Given the description of an element on the screen output the (x, y) to click on. 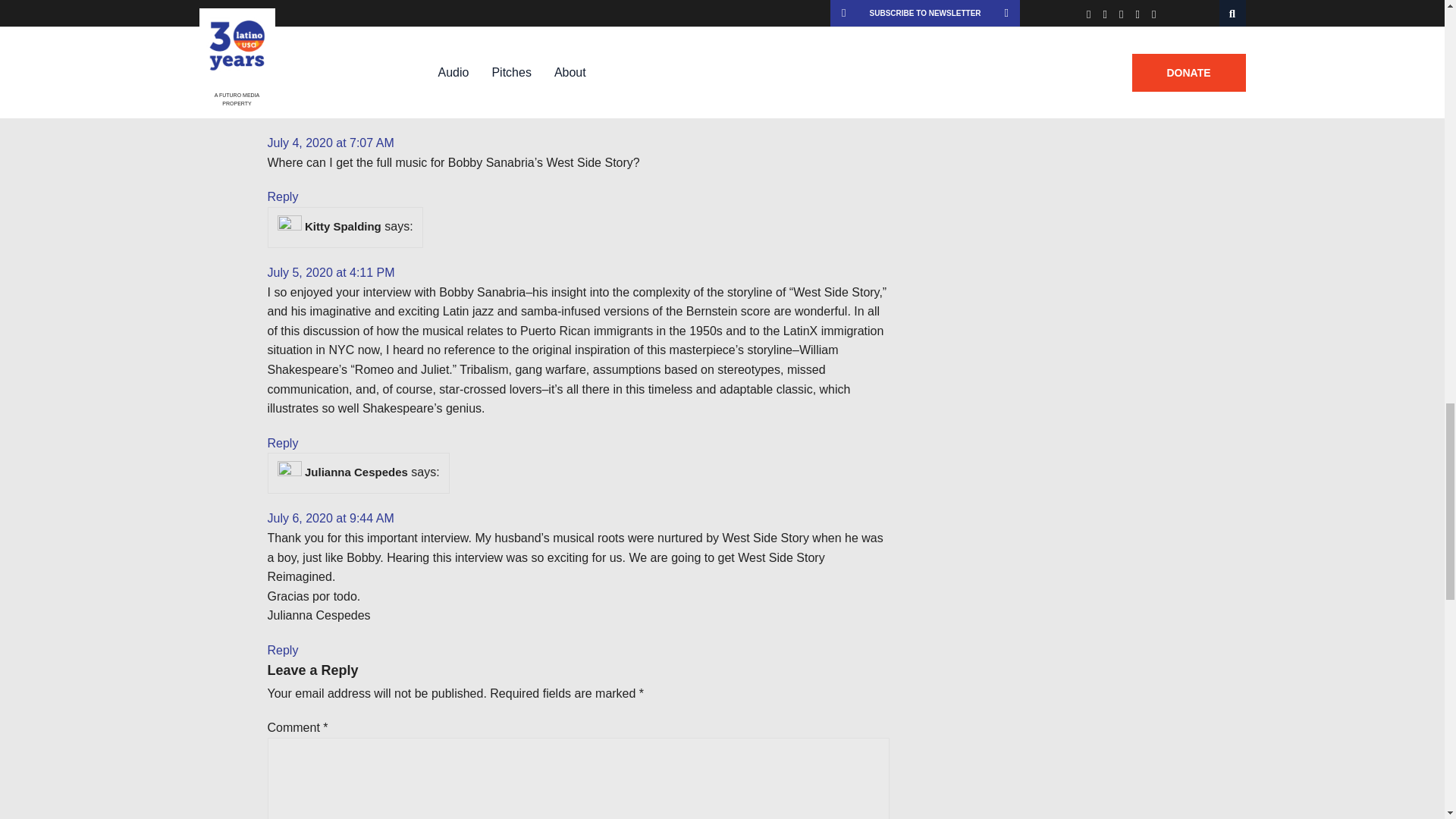
July 5, 2020 at 4:11 PM (330, 272)
Reply (282, 67)
July 4, 2020 at 7:07 AM (329, 142)
Reply (282, 196)
